Given the description of an element on the screen output the (x, y) to click on. 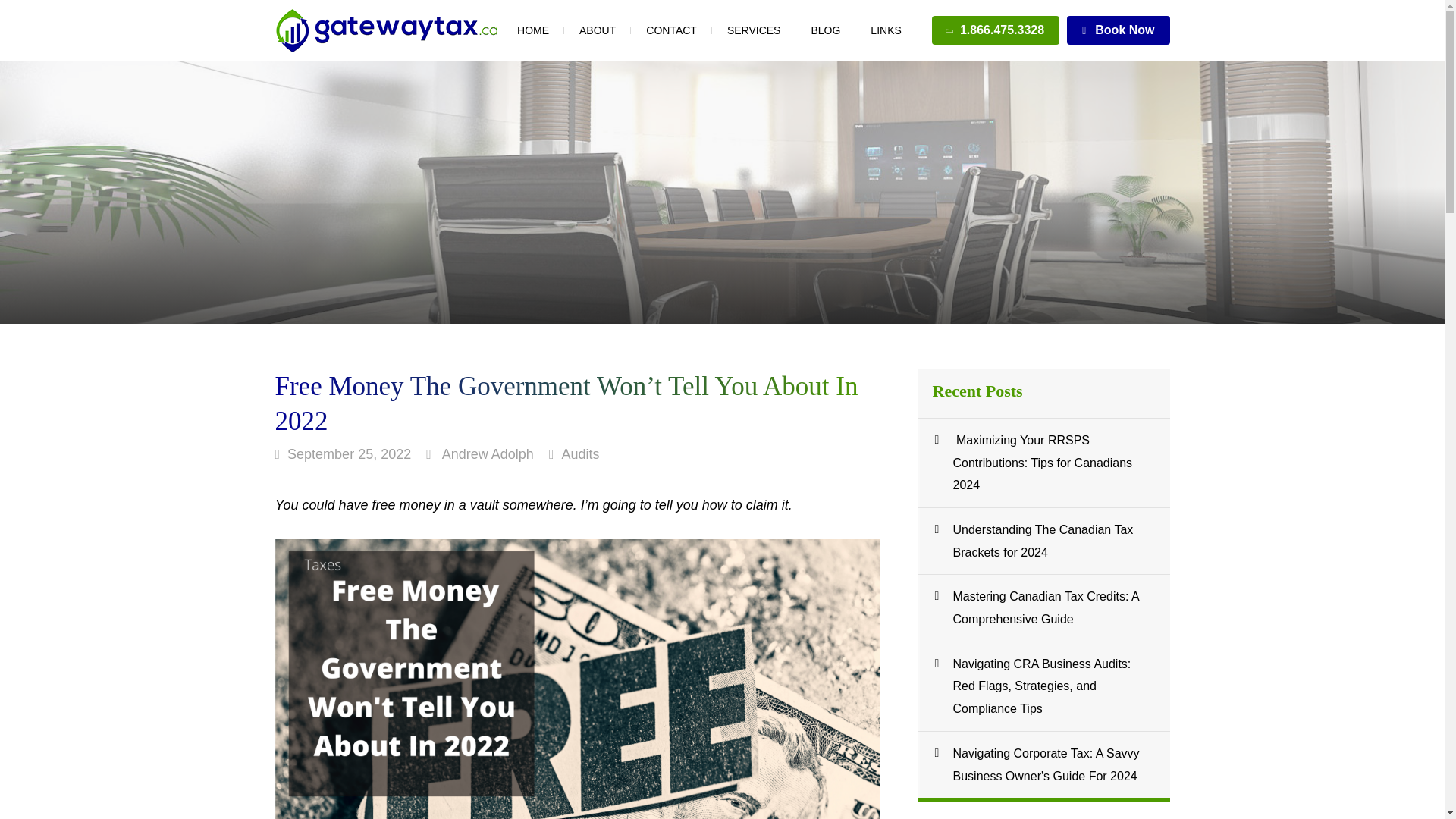
HOME (532, 29)
ABOUT (597, 29)
Understanding The Canadian Tax Brackets for 2024 (1043, 555)
Book Now (1118, 30)
SERVICES (753, 29)
BLOG (825, 29)
LINKS (885, 29)
Mastering Canadian Tax Credits: A Comprehensive Guide (1043, 621)
CONTACT (671, 29)
1.866.475.3328 (995, 30)
